Given the description of an element on the screen output the (x, y) to click on. 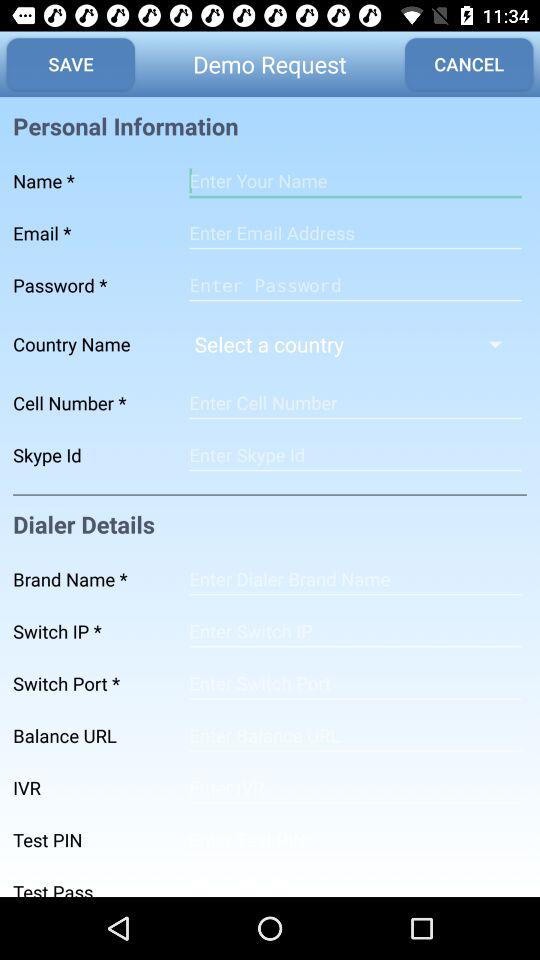
text input option (355, 403)
